Given the description of an element on the screen output the (x, y) to click on. 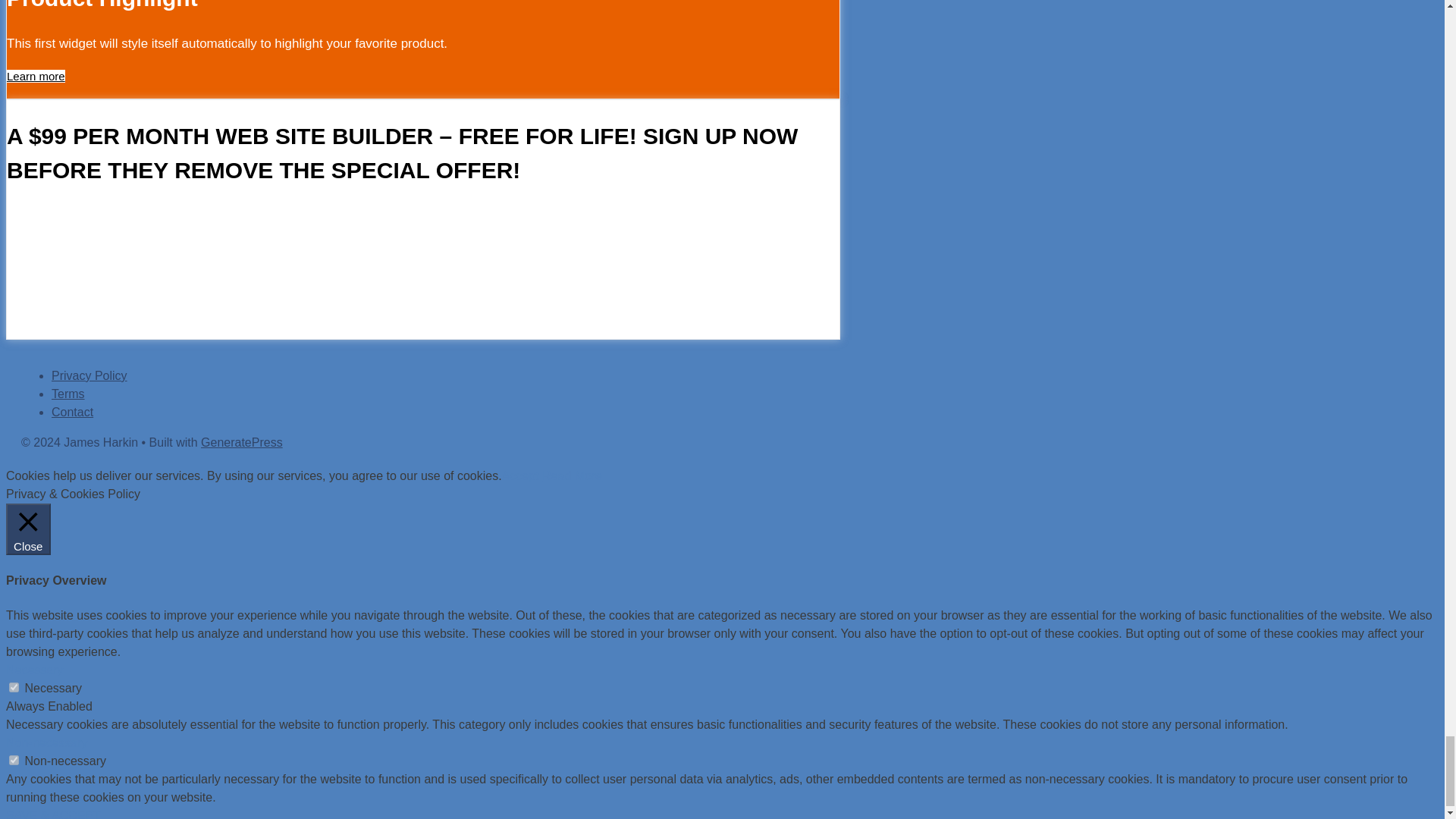
on (13, 687)
on (13, 759)
